Given the description of an element on the screen output the (x, y) to click on. 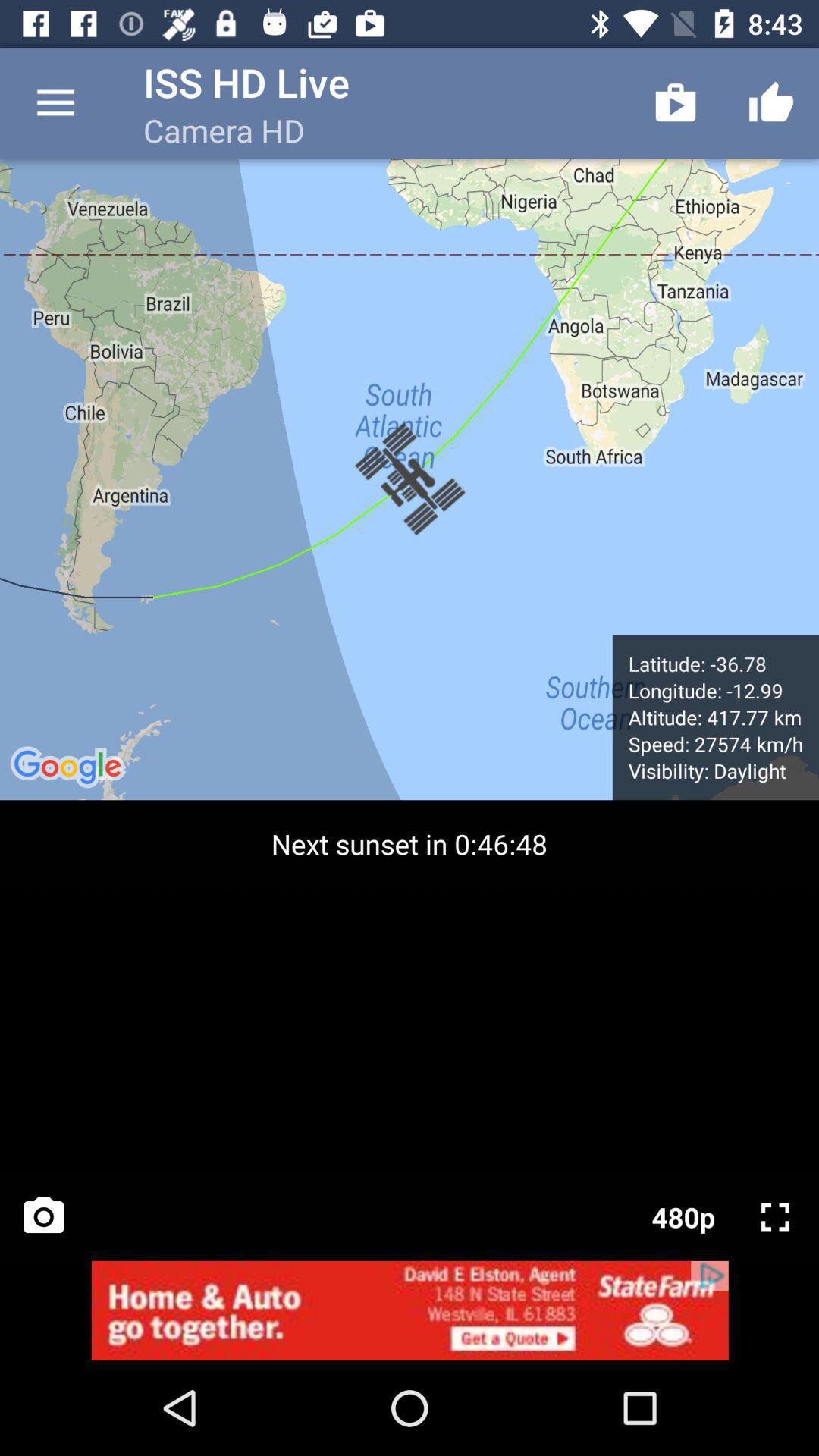
slite button (775, 1217)
